Given the description of an element on the screen output the (x, y) to click on. 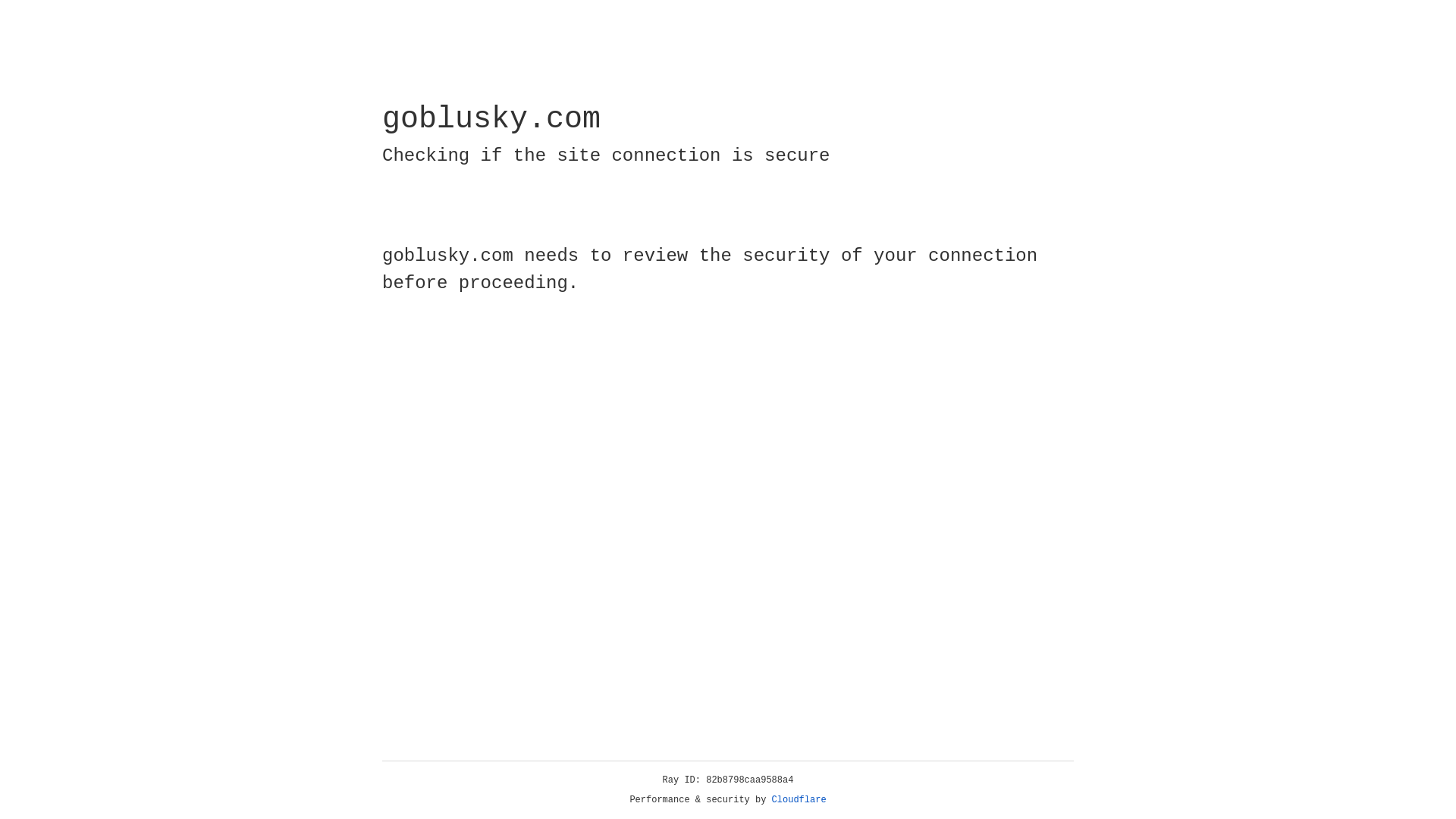
Cloudflare Element type: text (798, 799)
